Given the description of an element on the screen output the (x, y) to click on. 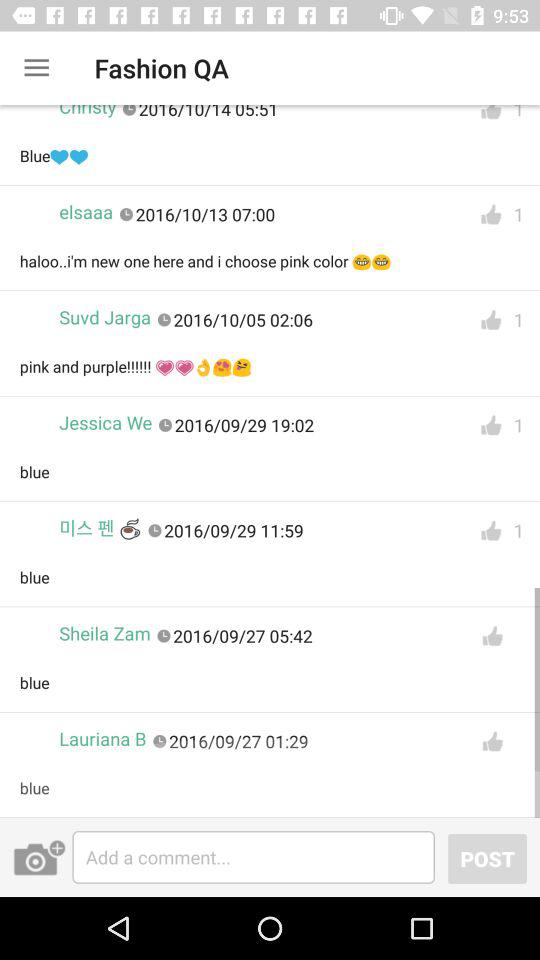
click item below blue item (100, 528)
